Given the description of an element on the screen output the (x, y) to click on. 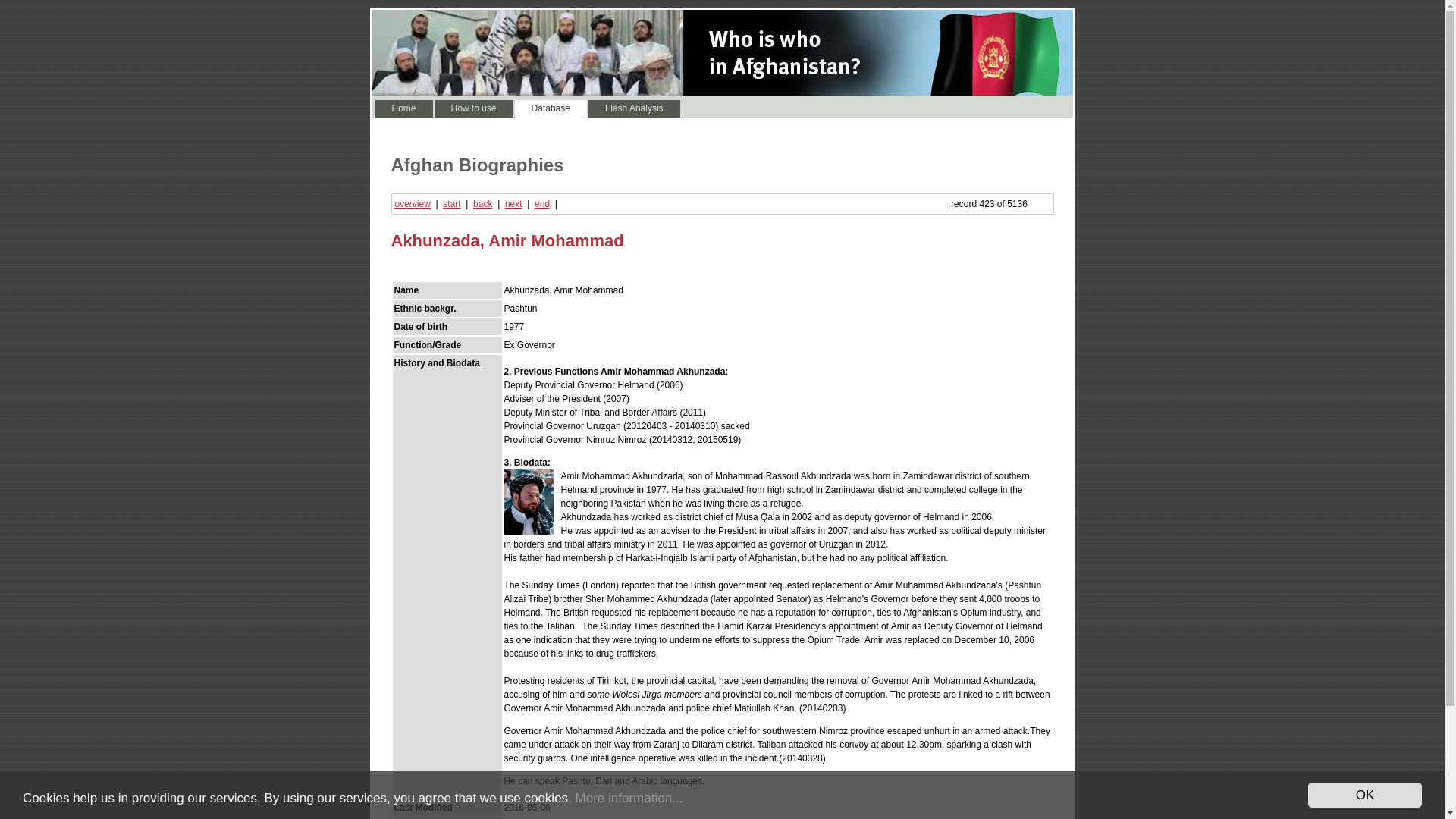
end (542, 204)
Database (550, 108)
start (451, 204)
next (513, 204)
back (482, 204)
overview (411, 204)
Flash Analysis (633, 108)
How to use (473, 108)
Home (403, 108)
